Given the description of an element on the screen output the (x, y) to click on. 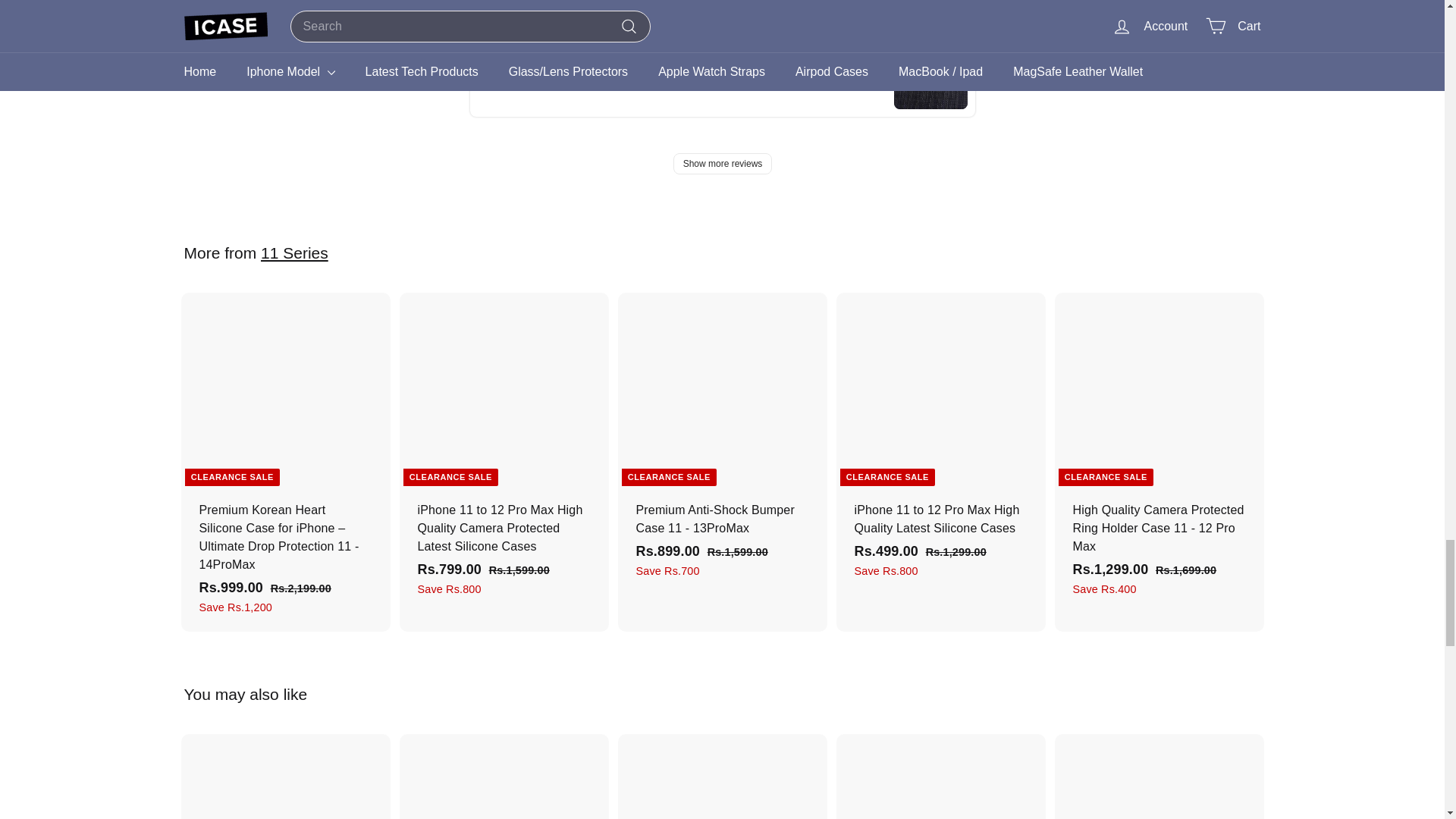
Product reviews widget (721, 99)
